Given the description of an element on the screen output the (x, y) to click on. 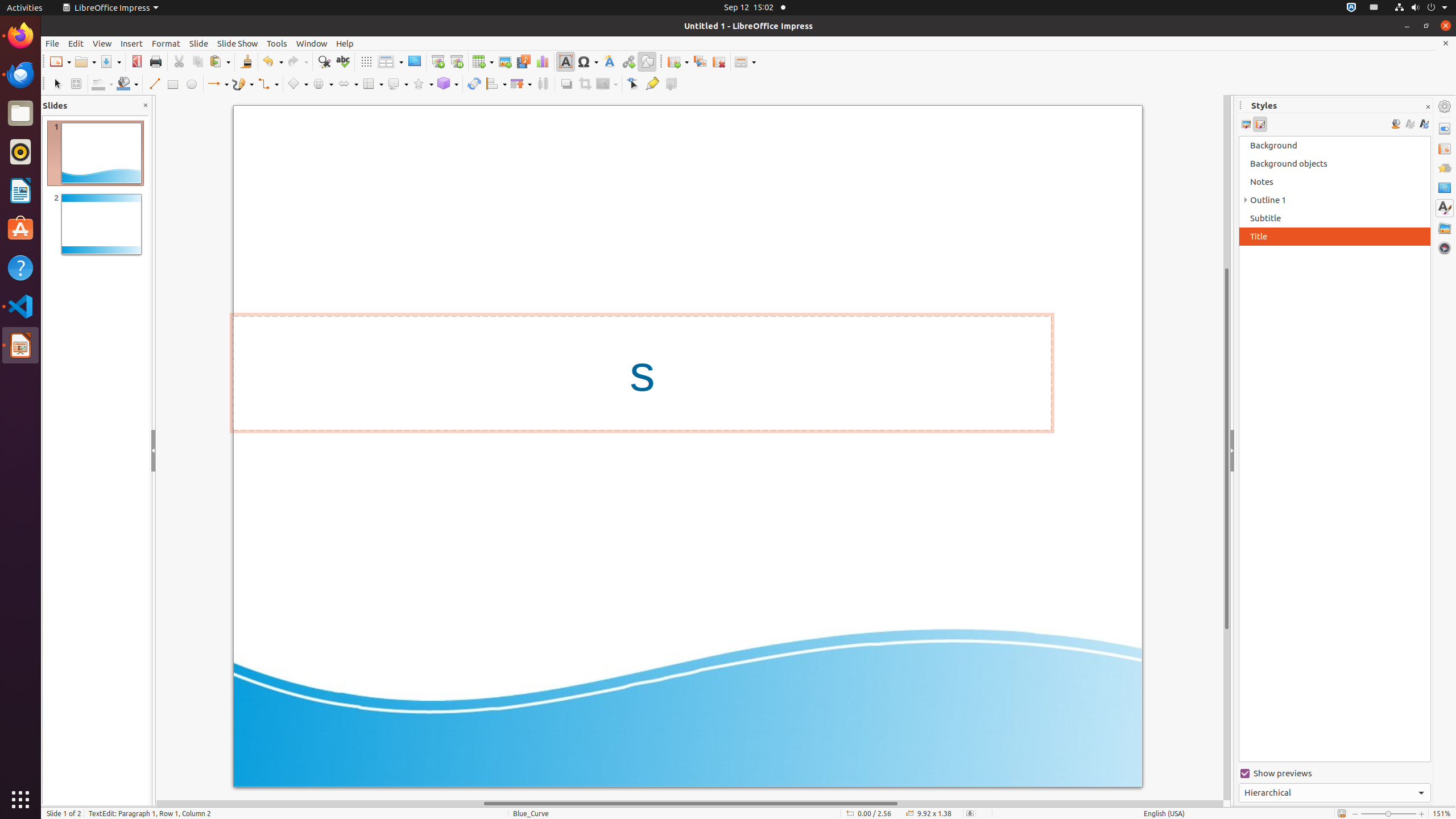
Star Shapes Element type: push-button (422, 83)
Slide Show Element type: menu (237, 43)
:1.21/StatusNotifierItem Element type: menu (1373, 7)
Slide Layout Element type: push-button (744, 61)
Toggle Extrusion Element type: push-button (670, 83)
